Given the description of an element on the screen output the (x, y) to click on. 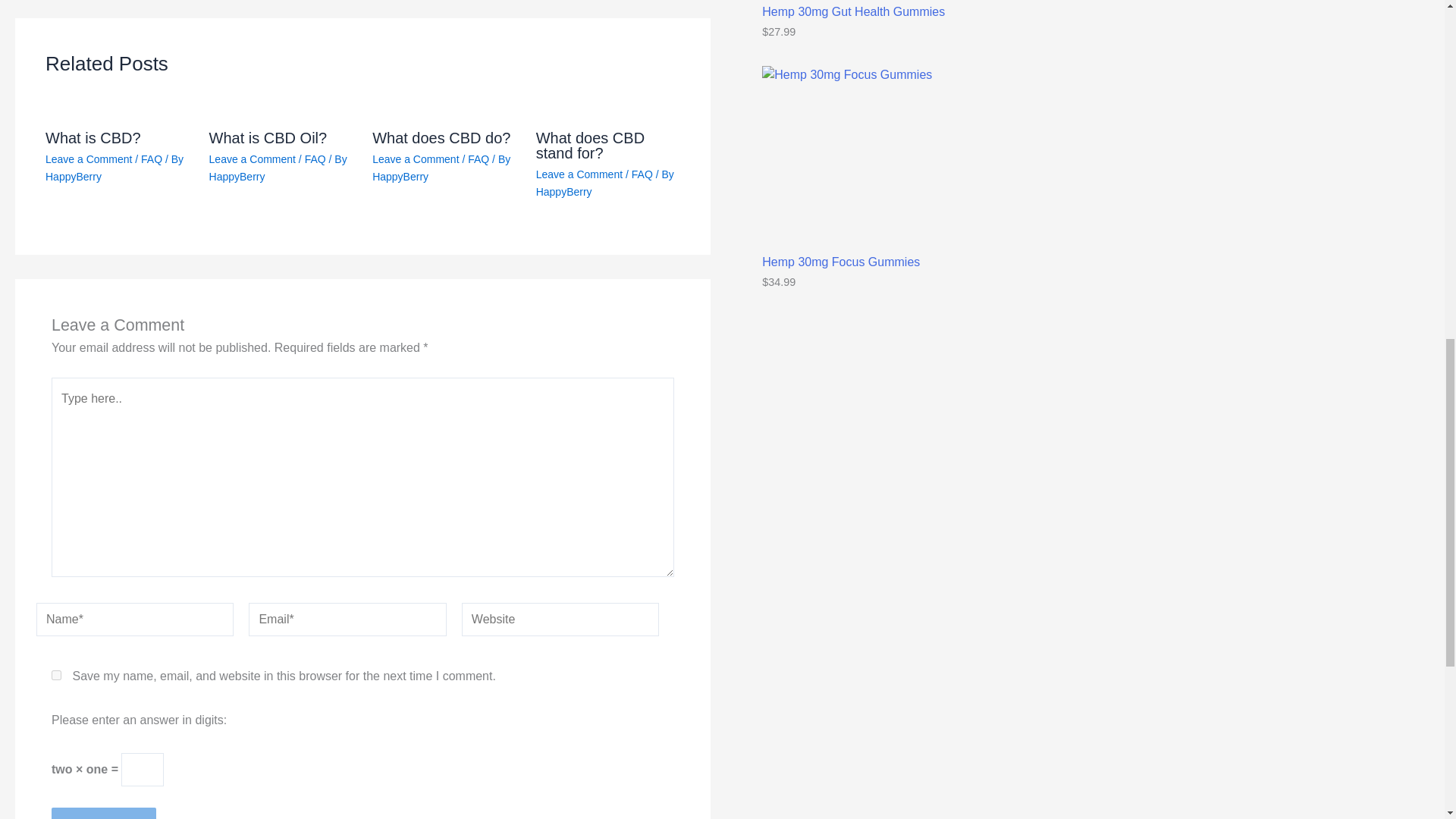
What is CBD? (93, 137)
Post Comment (102, 813)
View all posts by HappyBerry (400, 176)
FAQ (315, 159)
View all posts by HappyBerry (73, 176)
HappyBerry (73, 176)
View all posts by HappyBerry (236, 176)
View all posts by HappyBerry (563, 191)
Leave a Comment (88, 159)
yes (55, 675)
